Given the description of an element on the screen output the (x, y) to click on. 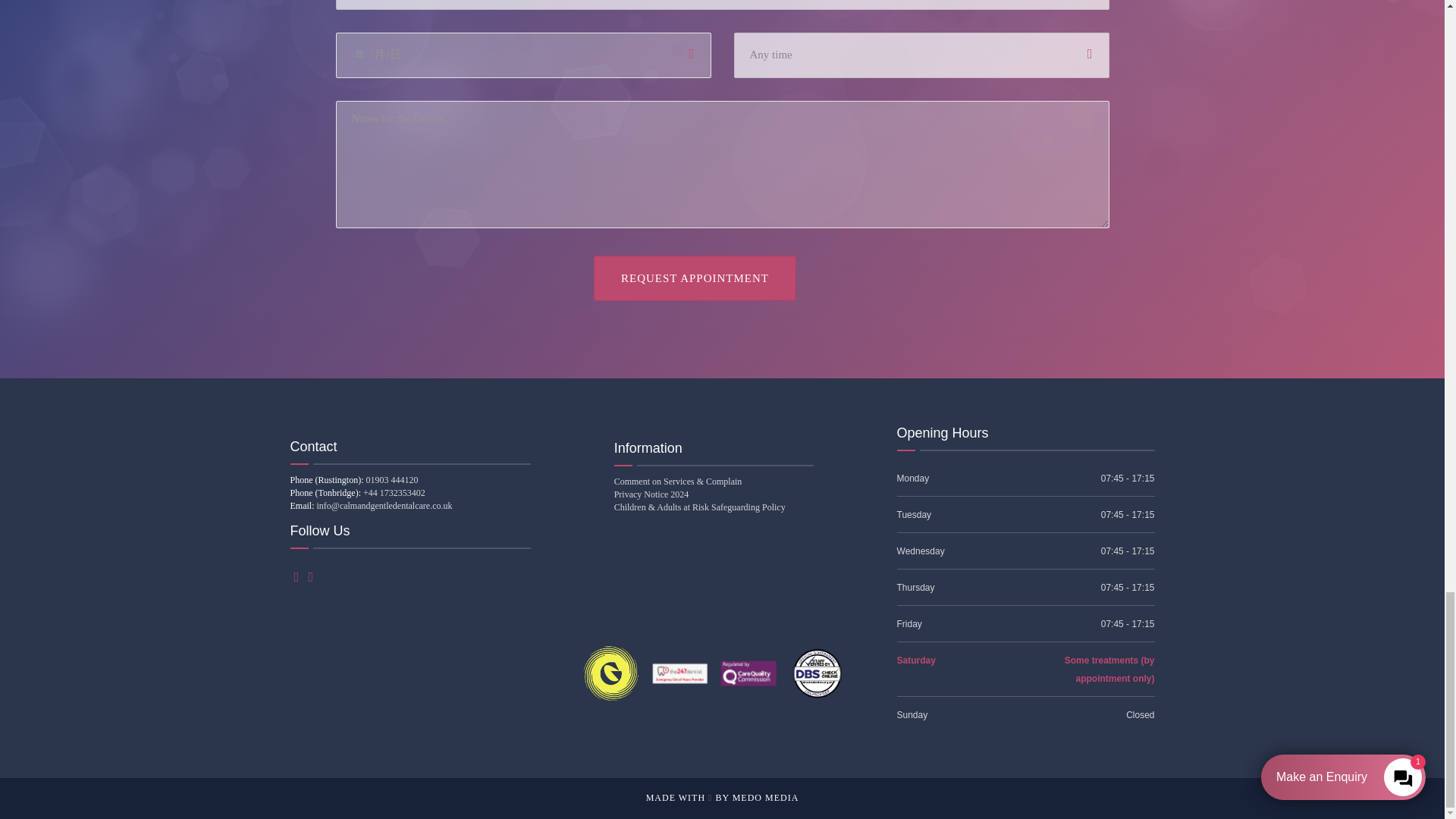
Request Appointment (695, 278)
